Given the description of an element on the screen output the (x, y) to click on. 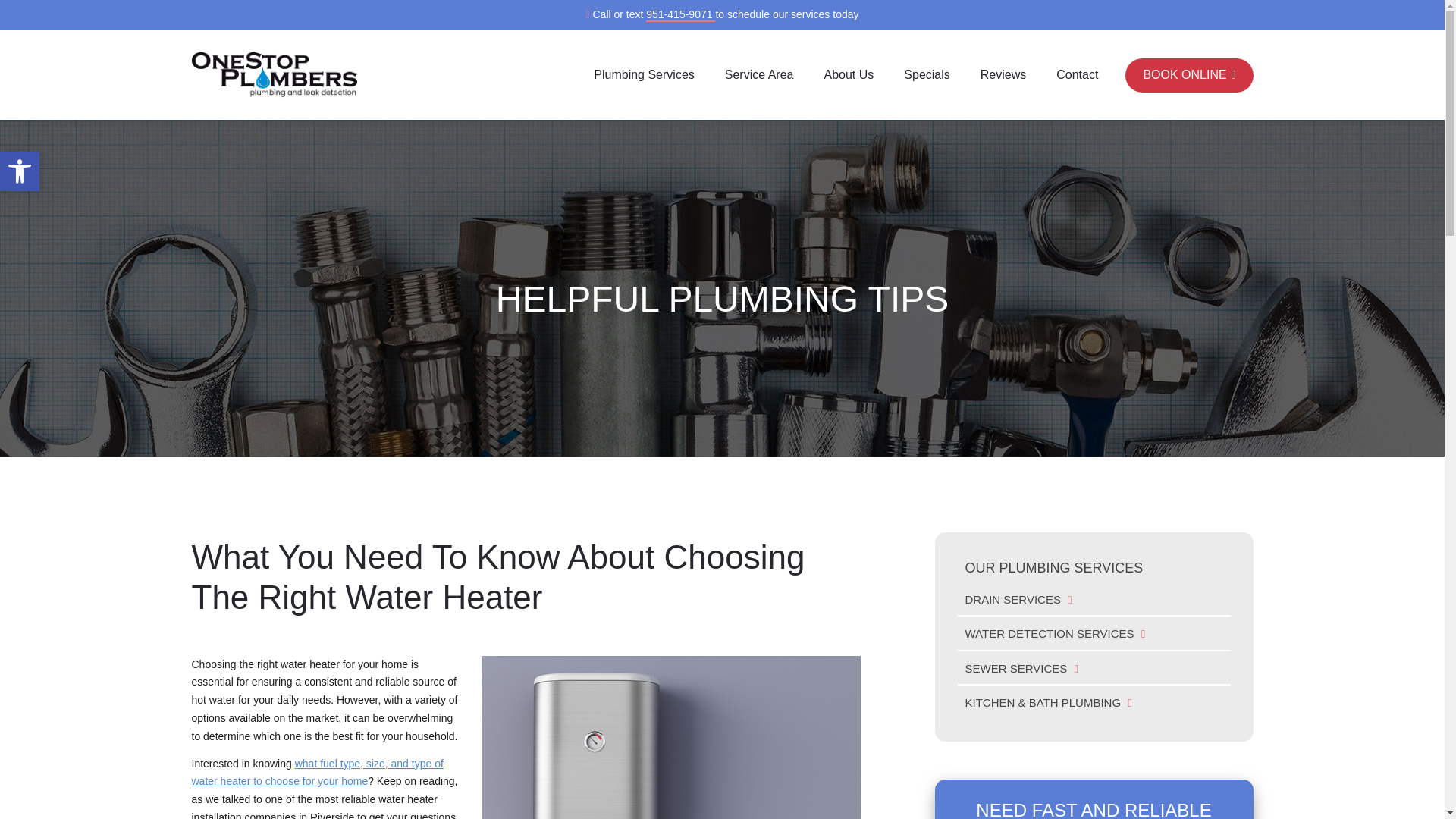
Plumbing Services (644, 74)
Specials (926, 74)
Service Area (759, 74)
Accessibility Tools (19, 170)
Accessibility Tools (19, 170)
951-415-9071 (680, 15)
About Us (848, 74)
